Given the description of an element on the screen output the (x, y) to click on. 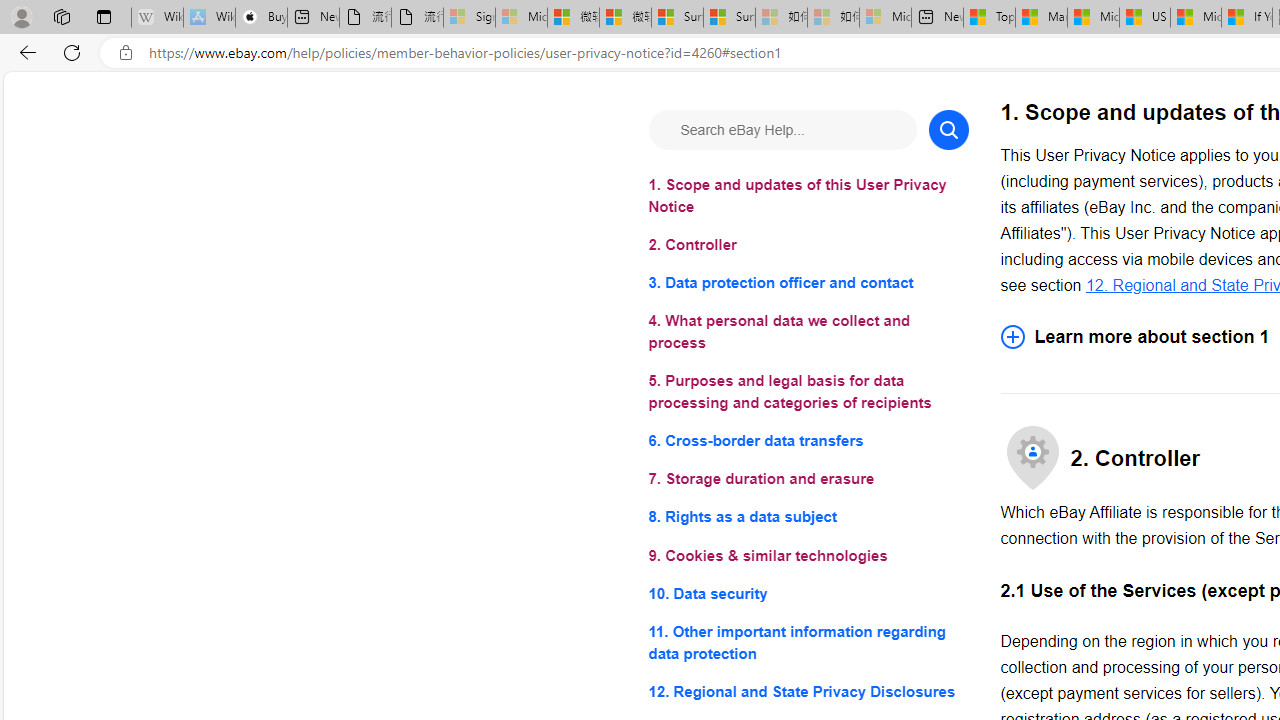
Microsoft account | Account Checkup - Sleeping (885, 17)
